Given the description of an element on the screen output the (x, y) to click on. 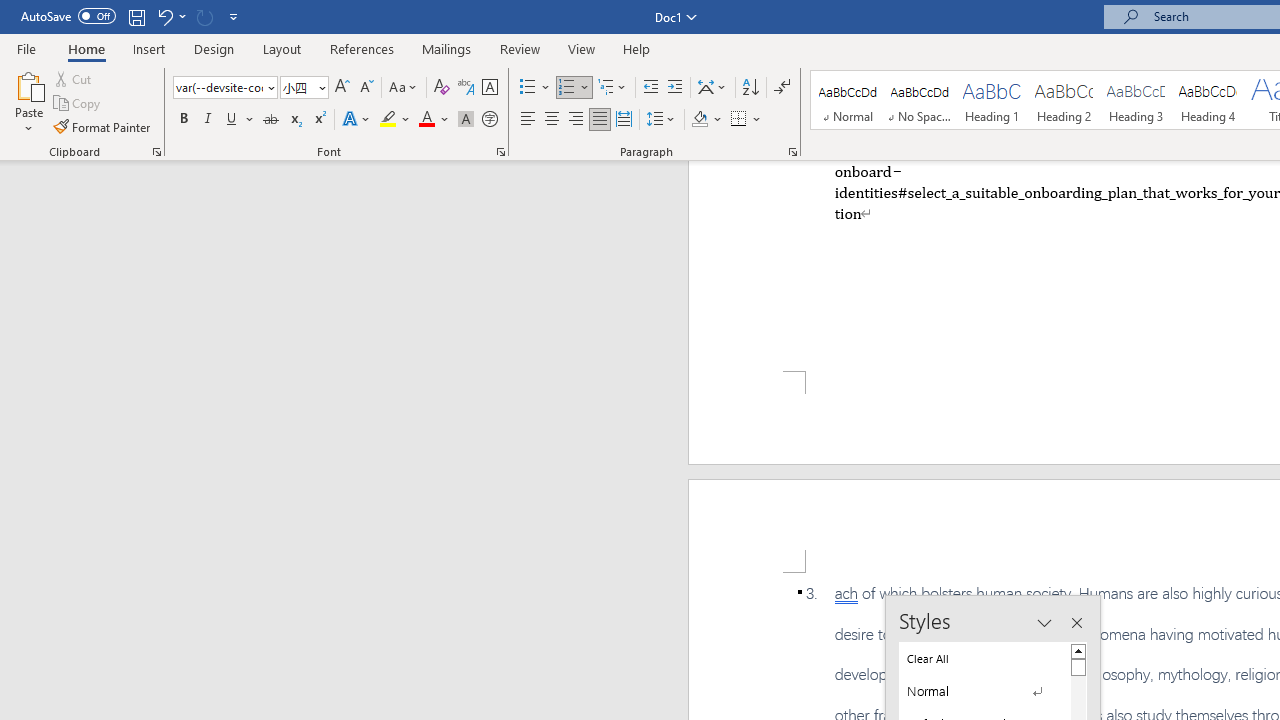
Copy (78, 103)
Numbering (573, 87)
Task Pane Options (1044, 623)
Bold (183, 119)
Paragraph... (792, 151)
Show/Hide Editing Marks (781, 87)
Cut (73, 78)
Shrink Font (365, 87)
Change Case (404, 87)
Center (552, 119)
Normal (984, 691)
Review (520, 48)
Underline (239, 119)
Format Painter (103, 126)
Shading (706, 119)
